Given the description of an element on the screen output the (x, y) to click on. 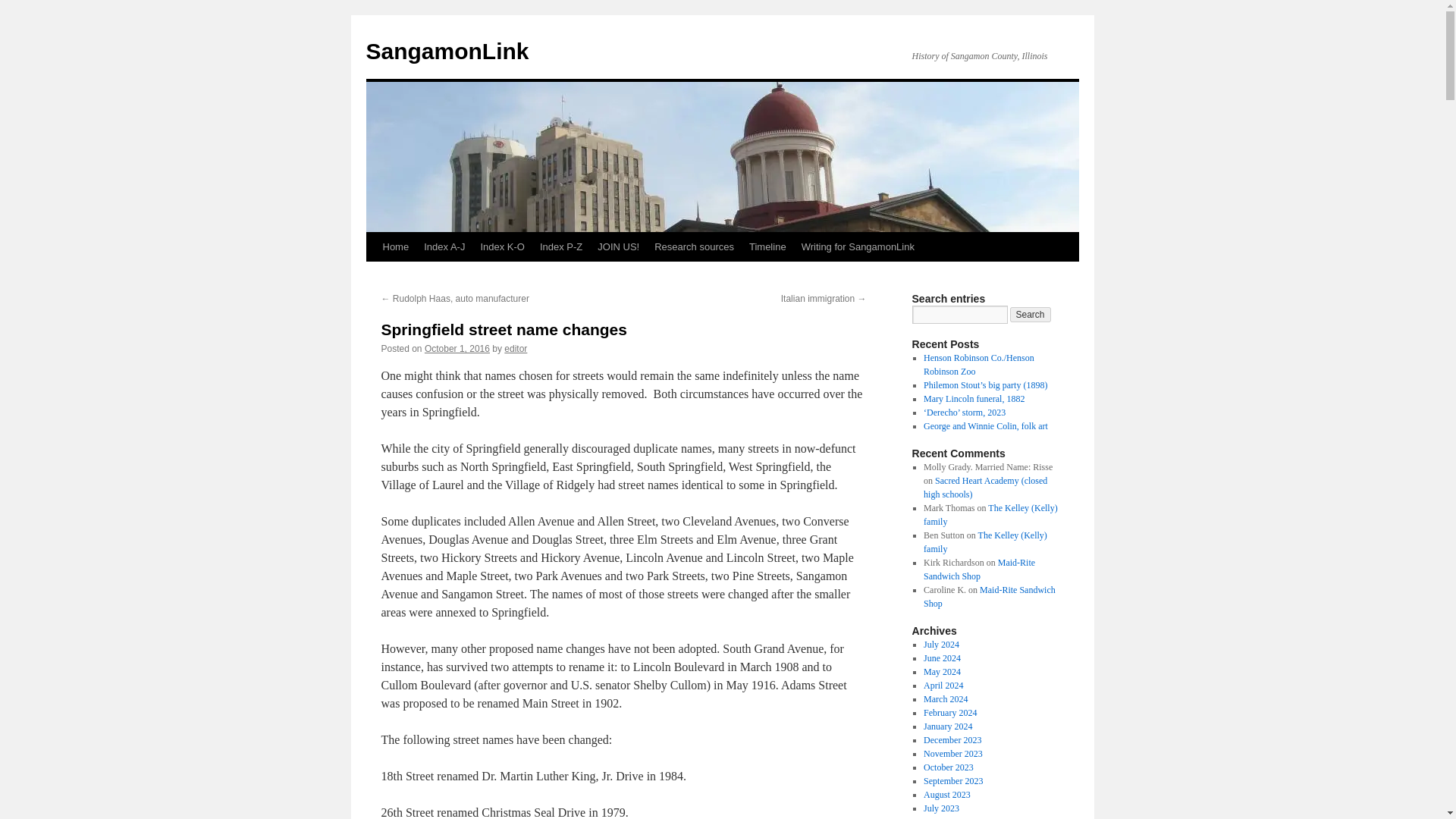
Timeline (767, 246)
Index A-J (443, 246)
Index K-O (501, 246)
Index P-Z (560, 246)
1:48 pm (457, 348)
Research sources (693, 246)
SangamonLink (446, 50)
View all posts by editor (515, 348)
October 1, 2016 (457, 348)
JOIN US! (617, 246)
